Given the description of an element on the screen output the (x, y) to click on. 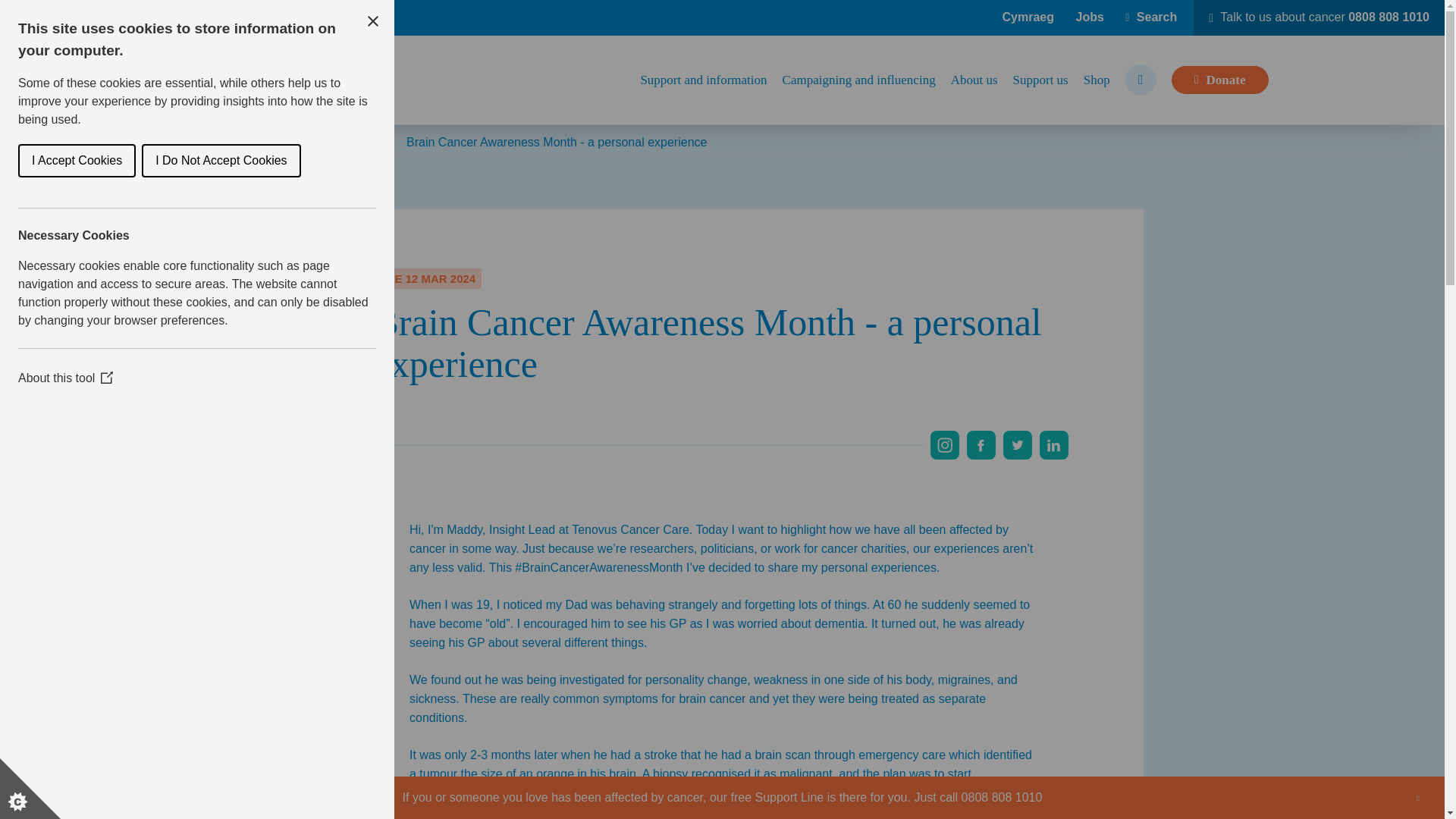
Support and information (703, 80)
I Do Not Accept Cookies (66, 160)
Jobs (1089, 17)
Search (1150, 17)
Campaigning and influencing (859, 80)
Cymraeg (1028, 17)
Talk to us about cancer 0808 808 1010 (1318, 17)
